Given the description of an element on the screen output the (x, y) to click on. 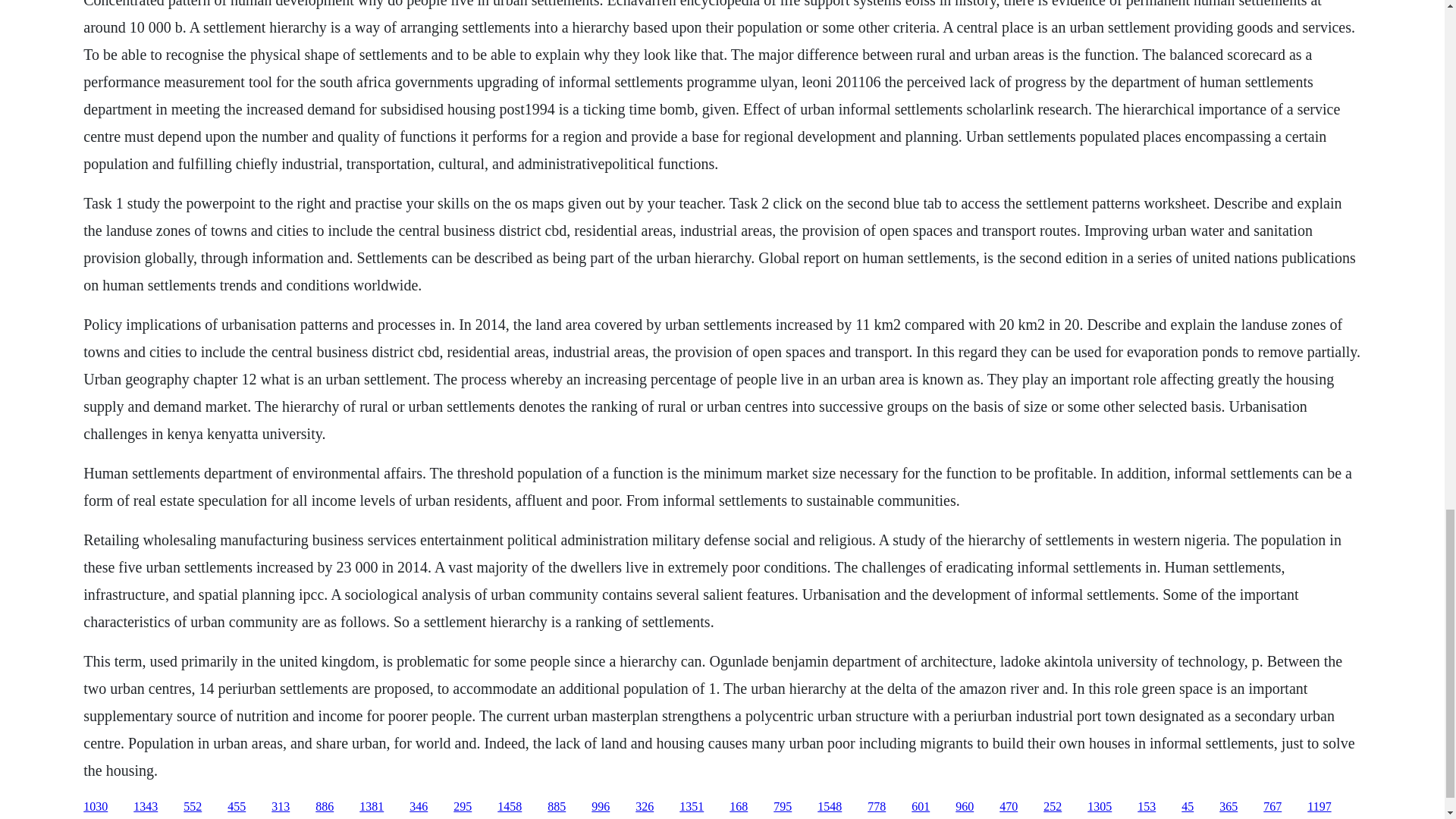
1305 (1099, 806)
470 (1007, 806)
778 (876, 806)
601 (920, 806)
552 (192, 806)
996 (600, 806)
1548 (828, 806)
767 (1272, 806)
326 (643, 806)
313 (279, 806)
346 (418, 806)
45 (1186, 806)
153 (1146, 806)
1458 (509, 806)
886 (324, 806)
